Given the description of an element on the screen output the (x, y) to click on. 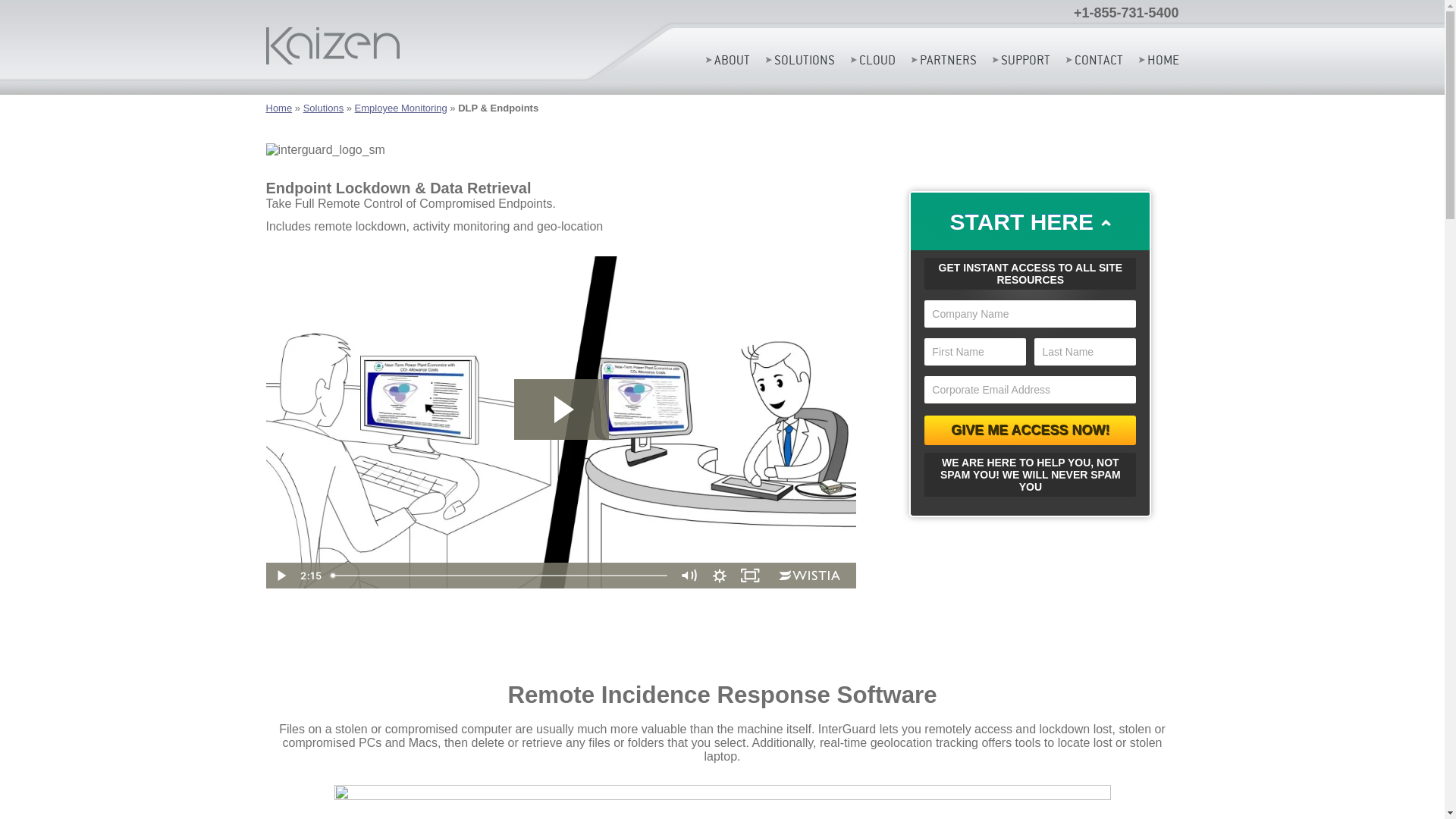
SUPPORT Element type: text (1020, 59)
CONTACT Element type: text (1094, 59)
Solutions Element type: text (323, 107)
GIVE ME ACCESS NOW! Element type: text (1029, 430)
HOME Element type: text (1159, 59)
ABOUT Element type: text (727, 59)
Home Element type: text (278, 107)
SOLUTIONS Element type: text (799, 59)
CLOUD Element type: text (872, 59)
PARTNERS Element type: text (943, 59)
Employee Monitoring Element type: text (400, 107)
